Given the description of an element on the screen output the (x, y) to click on. 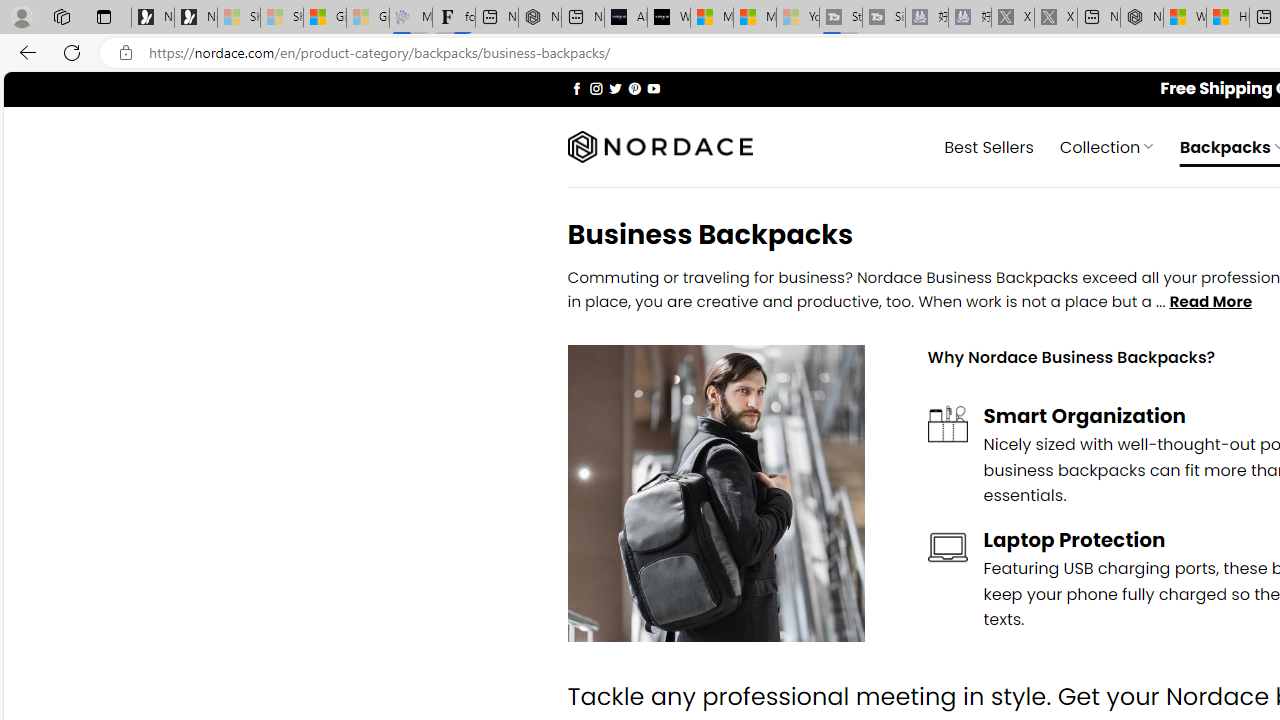
 Best Sellers (989, 146)
AI Voice Changer for PC and Mac - Voice.ai (625, 17)
